Given the description of an element on the screen output the (x, y) to click on. 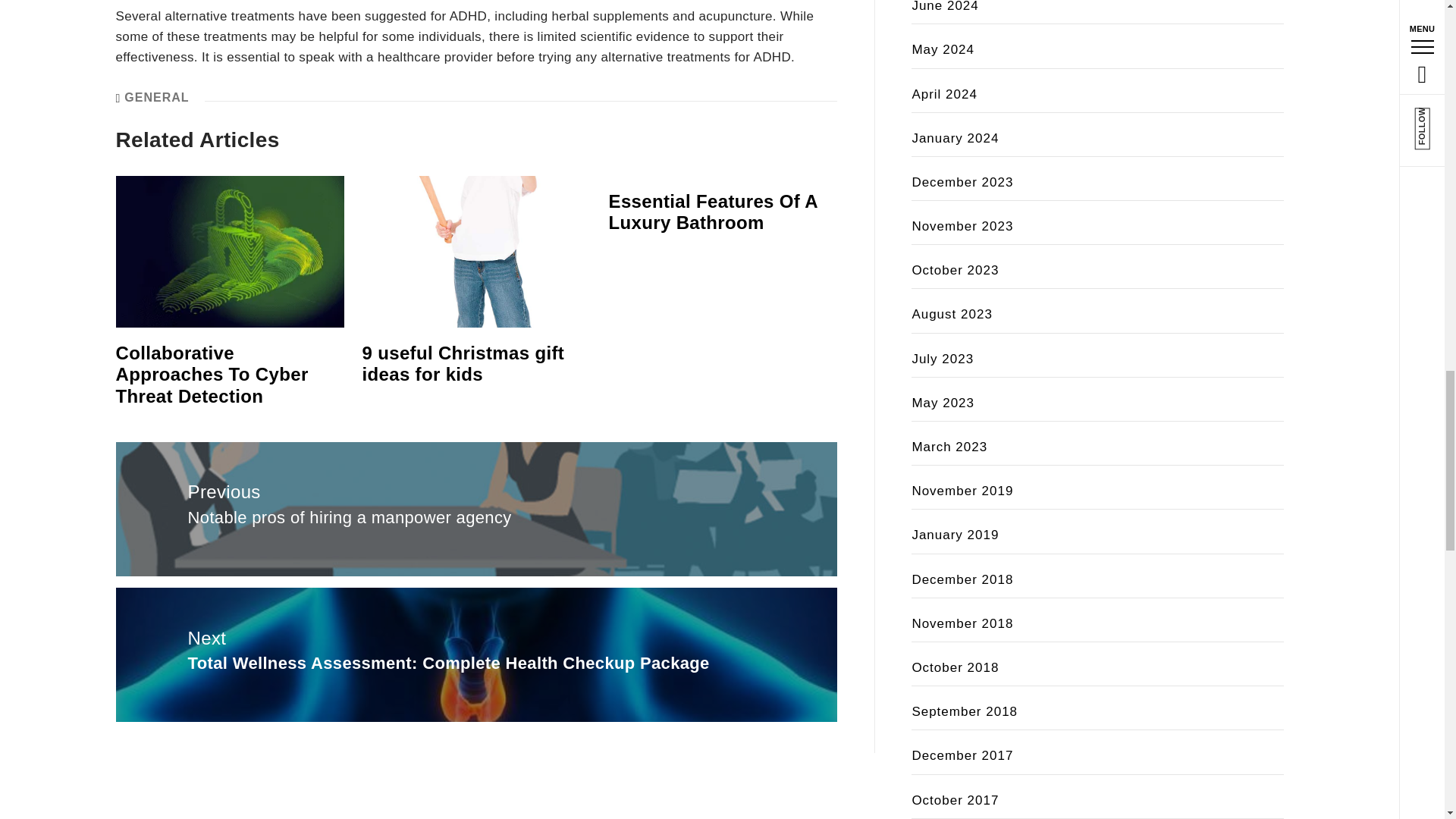
9 useful Christmas gift ideas for kids (463, 363)
GENERAL (156, 97)
Collaborative Approaches To Cyber Threat Detection (211, 375)
Essential Features Of A Luxury Bathroom (712, 211)
